Given the description of an element on the screen output the (x, y) to click on. 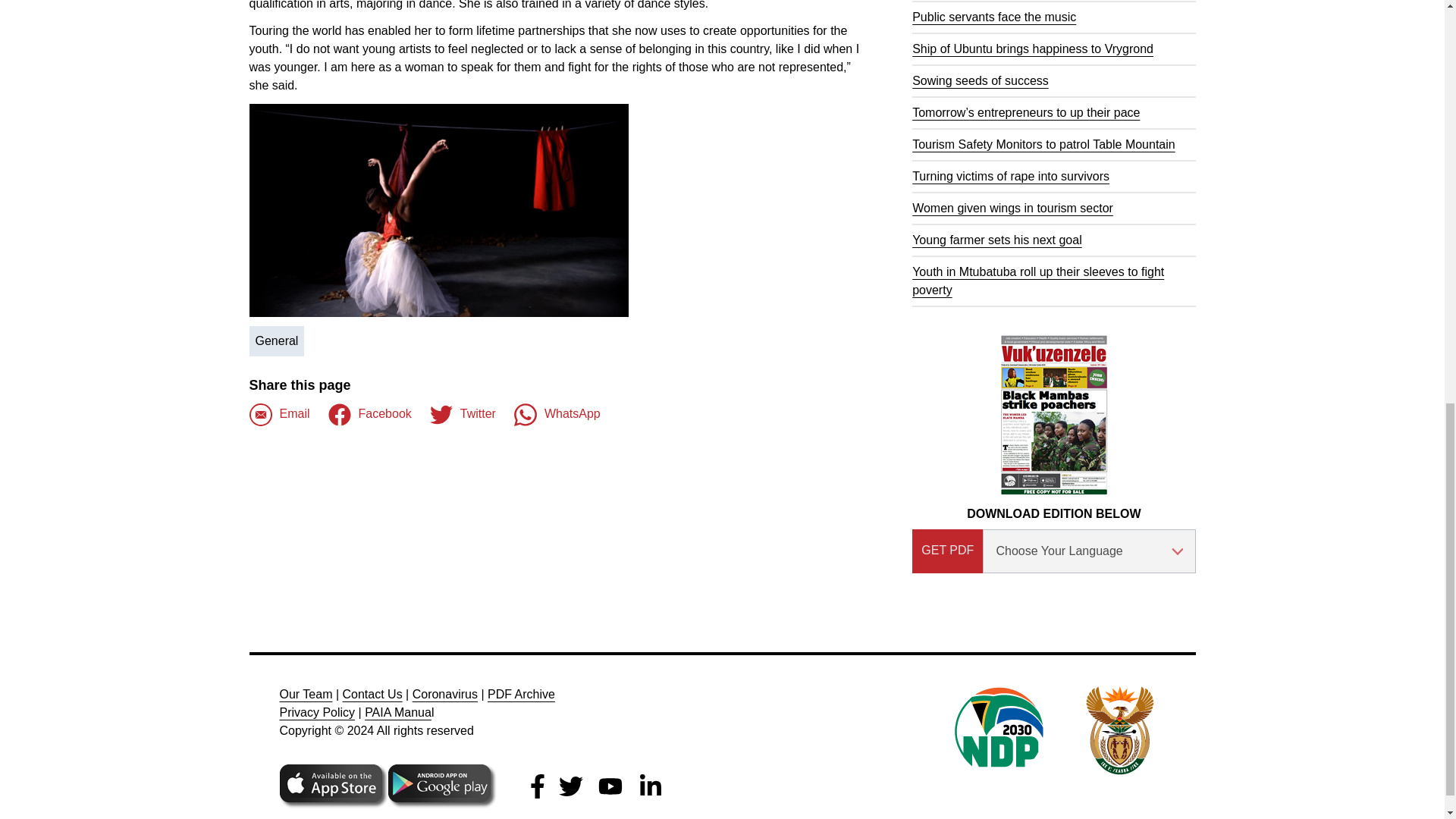
General (276, 340)
Choose Your Language (1088, 551)
Email (278, 414)
Facebook (370, 414)
Share on Twitter (462, 414)
Share on Facebook (370, 414)
Share on Facebook (278, 414)
